Given the description of an element on the screen output the (x, y) to click on. 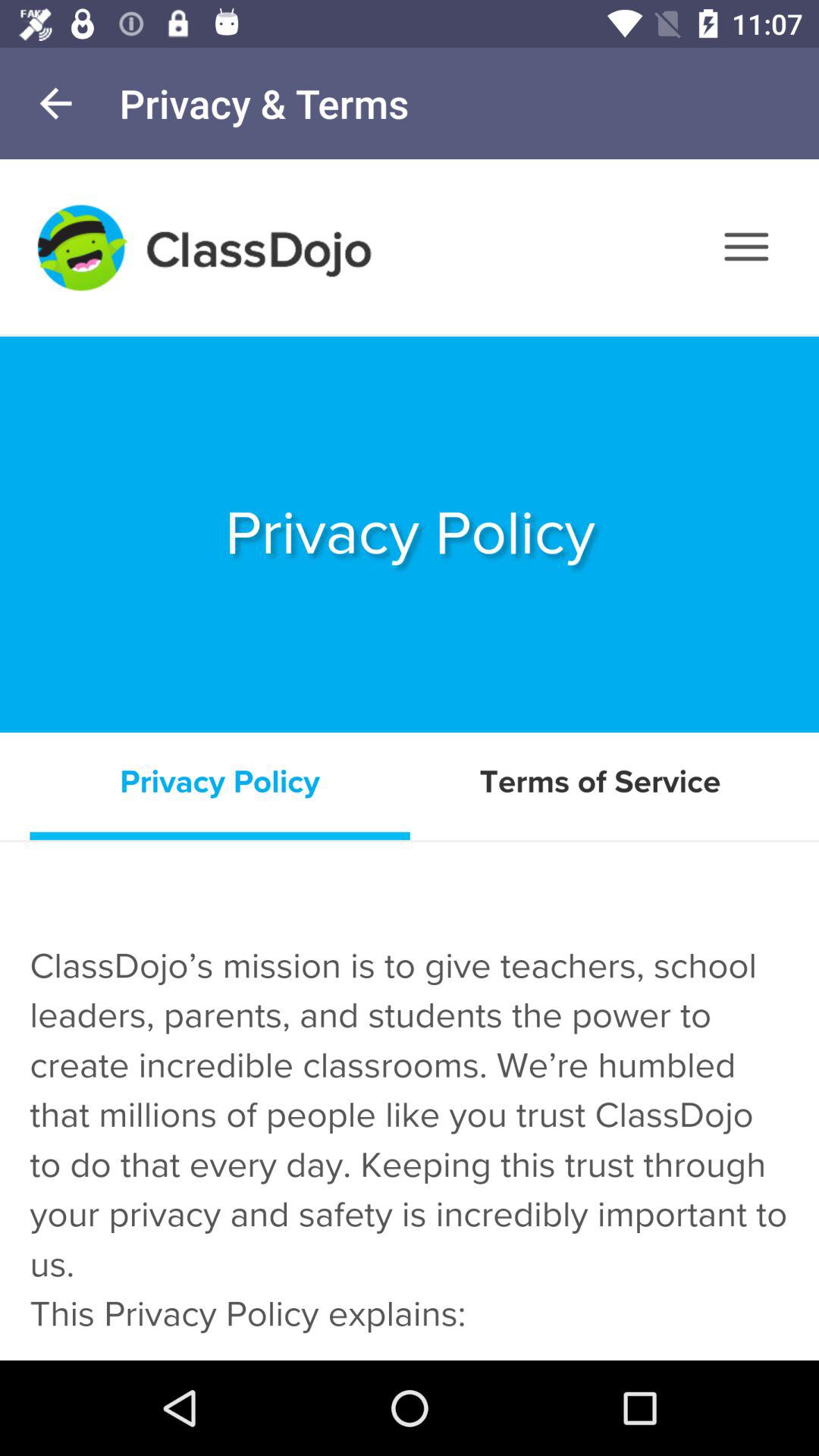
advertisement page (409, 759)
